Given the description of an element on the screen output the (x, y) to click on. 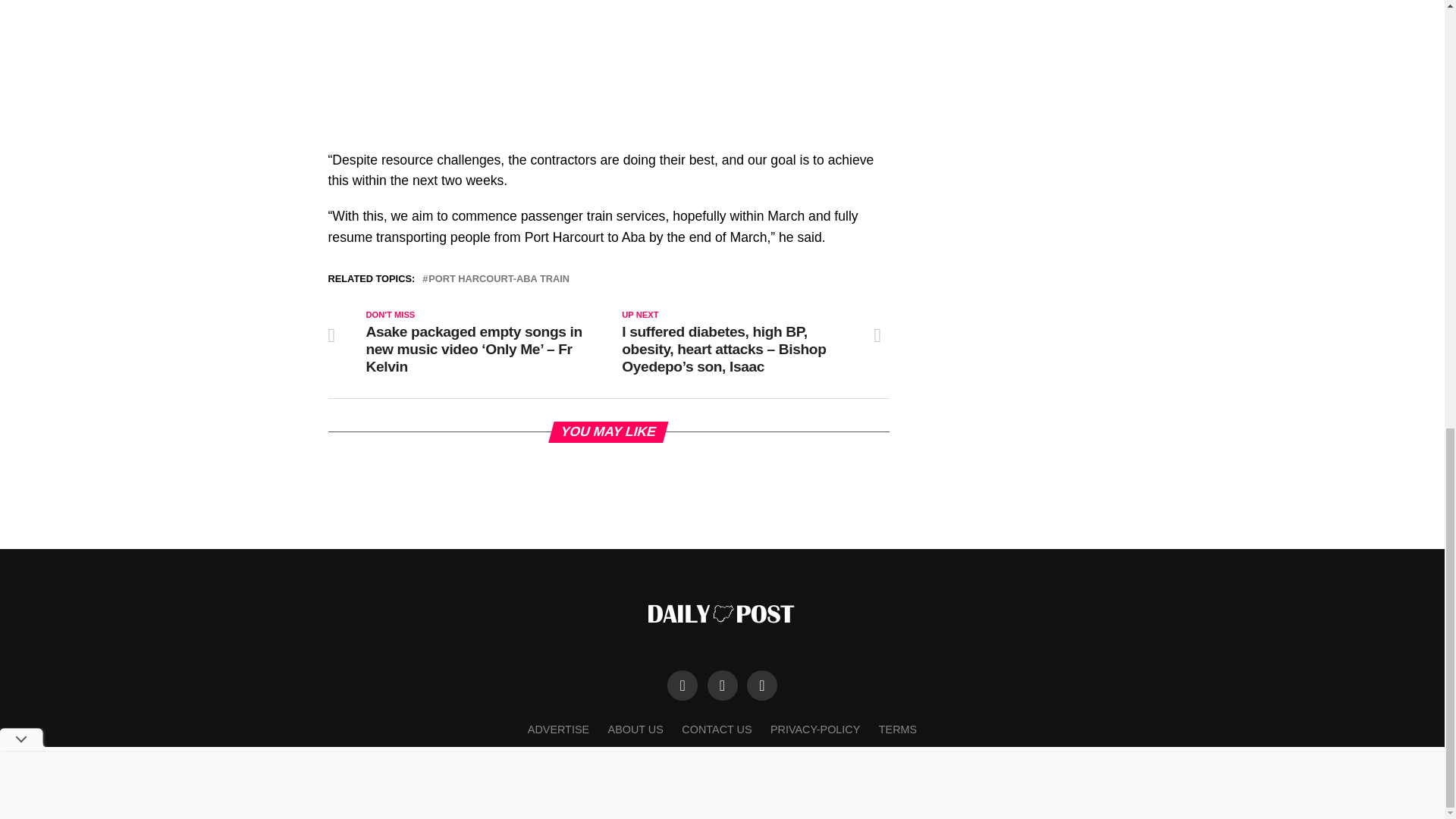
TERMS (898, 729)
CONTACT US (716, 729)
3rd party ad content (1055, 54)
ABOUT US (635, 729)
ADVERTISE (558, 729)
PORT HARCOURT-ABA TRAIN (498, 279)
Daily Post Media Ltd (753, 796)
PRIVACY-POLICY (815, 729)
